Given the description of an element on the screen output the (x, y) to click on. 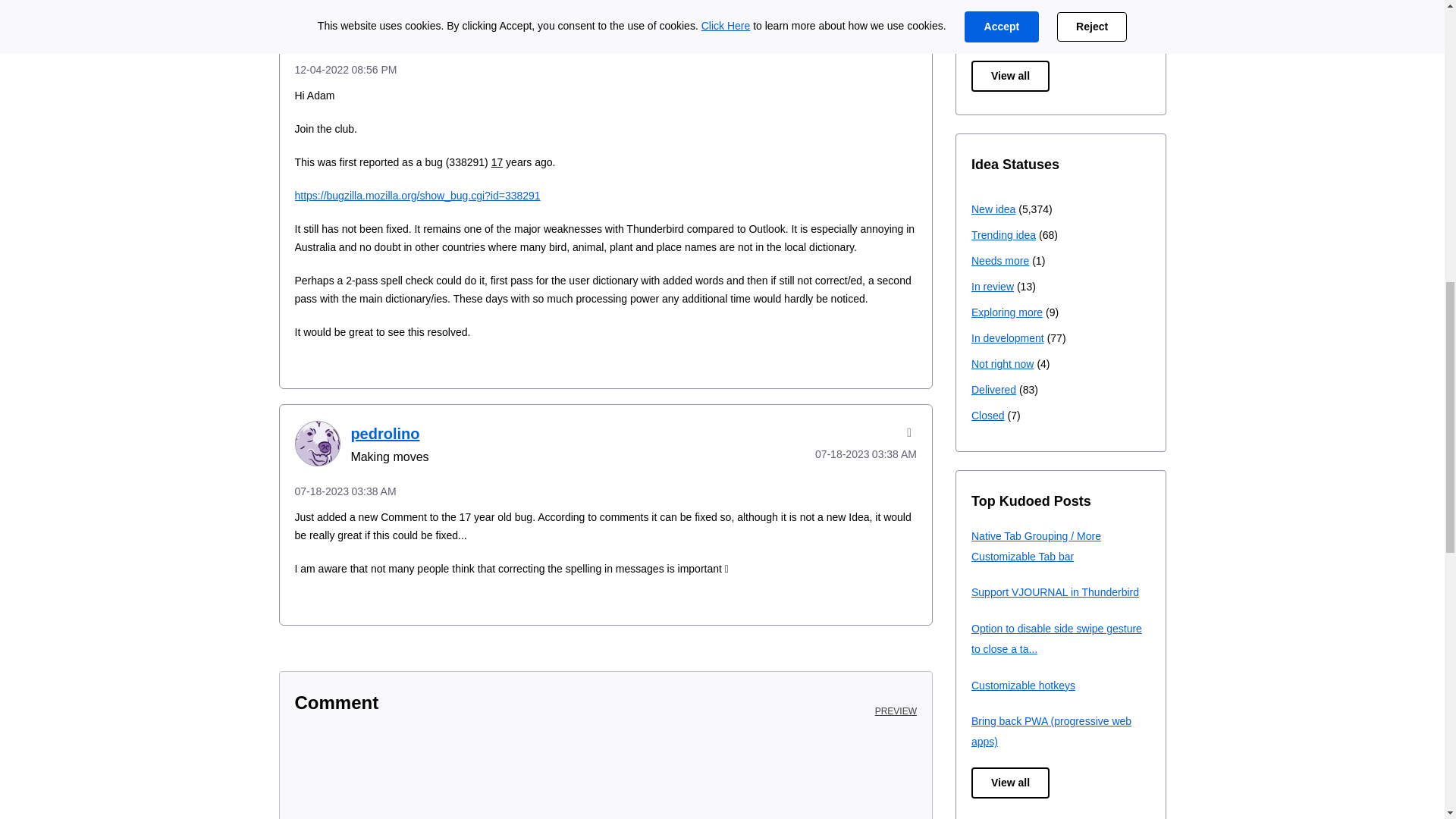
Posted on (605, 69)
erichalfb (316, 22)
Posted on (845, 31)
